Given the description of an element on the screen output the (x, y) to click on. 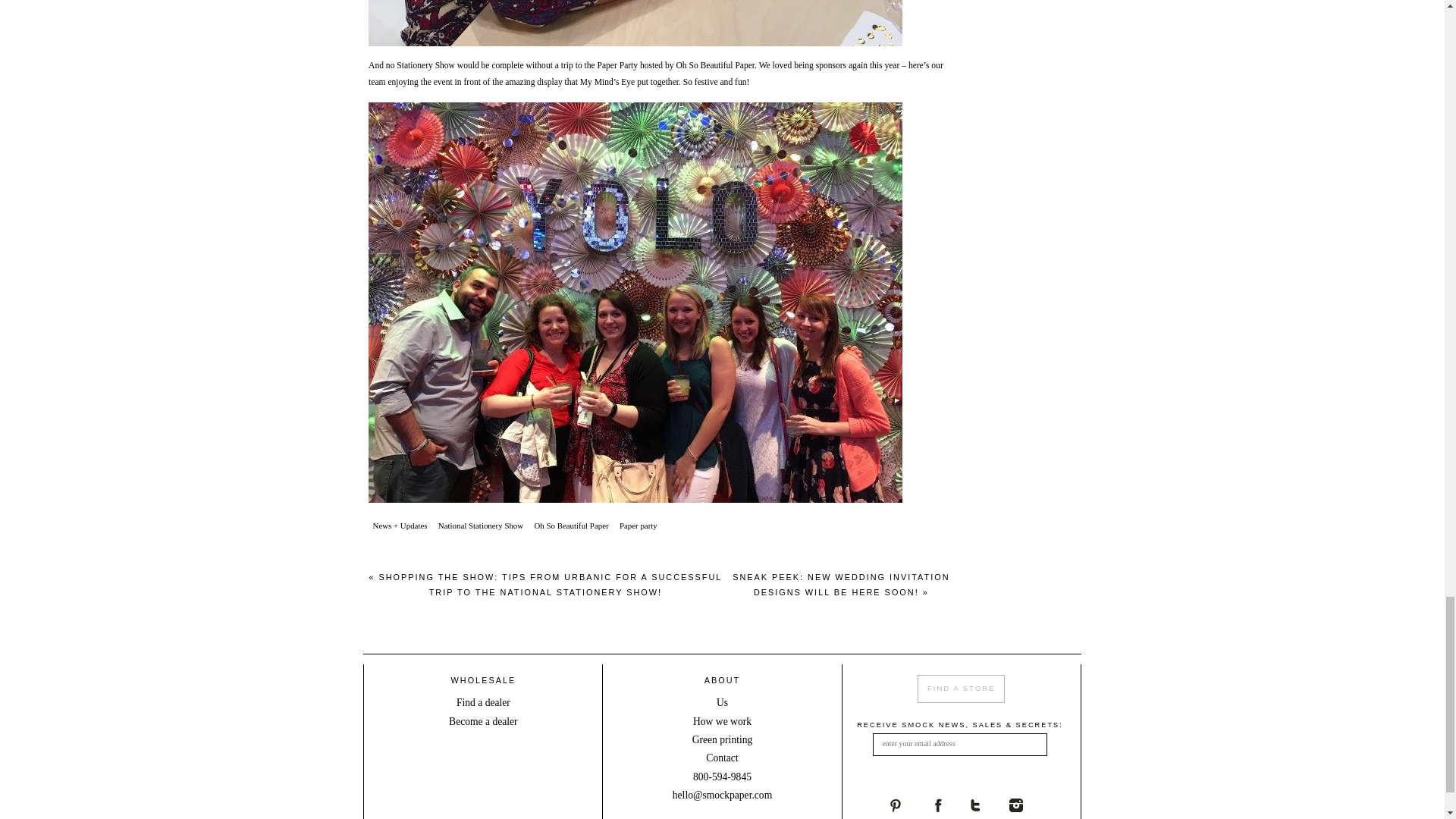
Our Twitter Feed (989, 805)
Our Pinterest Board (908, 805)
View all posts tagged with "Paper party" (637, 525)
Oh So Beautiful Paper (714, 65)
National Stationery Show (480, 525)
Oh So Beautiful Paper (570, 525)
Paper party (637, 525)
Our Facebook Page (948, 805)
